Given the description of an element on the screen output the (x, y) to click on. 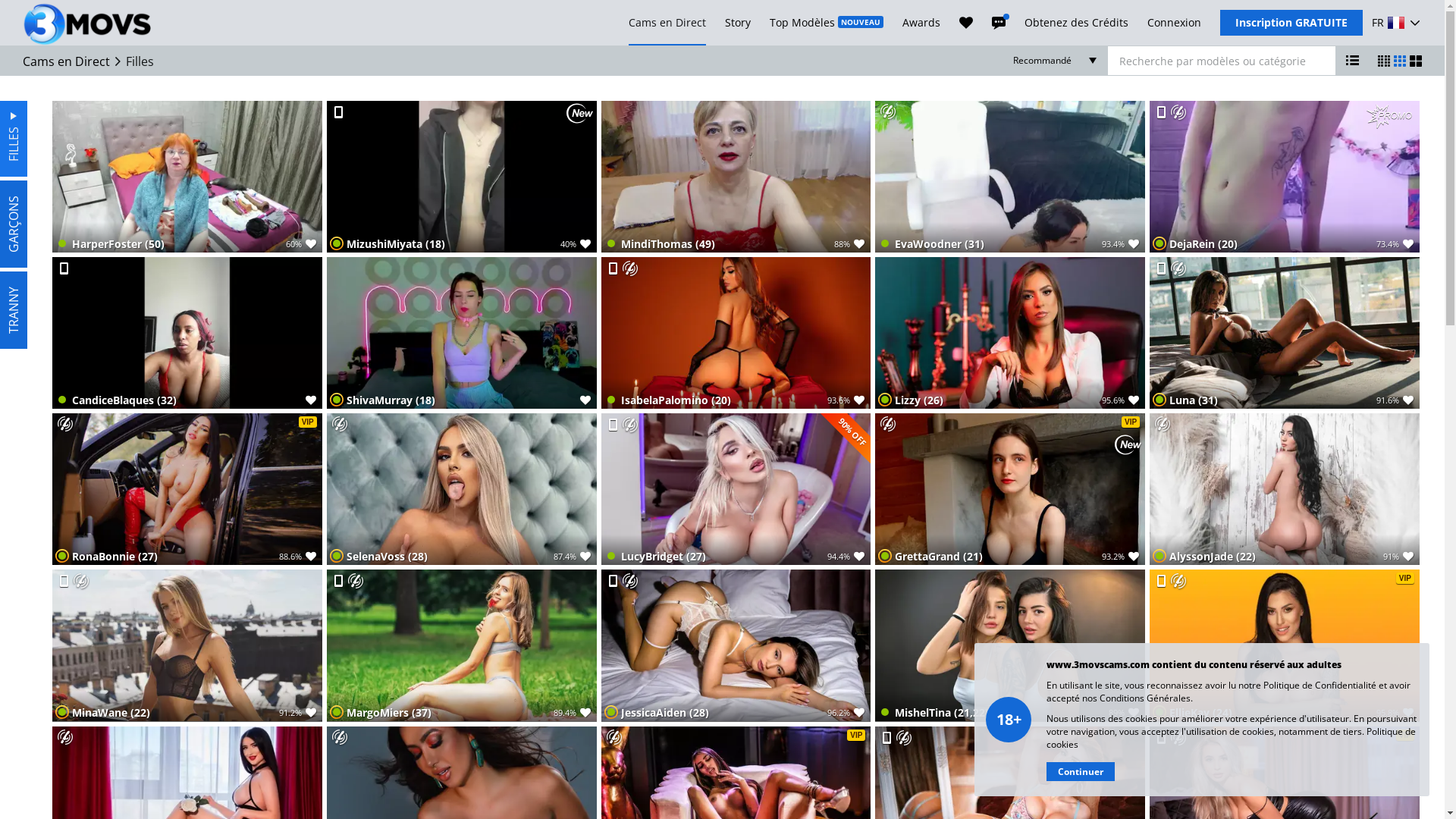
Mobile En Direct Element type: hover (338, 111)
JessicaAiden (28)
96.2% Element type: text (736, 645)
Mobile En Direct Element type: hover (612, 580)
Lizzy (26)
95.6% Element type: text (1010, 332)
VIP
RonaBonnie (27)
88.6% Element type: text (187, 488)
MindiThomas (49)
88% Element type: text (736, 176)
IsabelaPalomino (20)
93.6% Element type: text (736, 332)
Mobile En Direct Element type: hover (63, 268)
Mobile En Direct Element type: hover (1160, 268)
MargoMiers (37)
89.4% Element type: text (461, 645)
Mobile En Direct Element type: hover (338, 580)
Mobile En Direct Element type: hover (1160, 737)
Connexion Element type: text (1174, 22)
Mobile En Direct Element type: hover (612, 268)
Politique de cookies Element type: text (1230, 737)
MishelTina (21,22)
89% Element type: text (1010, 645)
Cams en Direct Element type: text (667, 22)
DejaRein (20)
73.4% Element type: text (1284, 176)
VIP
EllieKay (24)
95.8% Element type: text (1284, 645)
LucyBridget (27)
94.4% Element type: text (736, 488)
Mobile En Direct Element type: hover (886, 737)
Mobile En Direct Element type: hover (1160, 111)
VIP
GrettaGrand (21)
93.2% Element type: text (1010, 488)
Inscription GRATUITE Element type: text (1291, 22)
ShivaMurray (18) Element type: text (461, 332)
Messages Element type: hover (998, 22)
Continuer Element type: text (1080, 771)
FILLES Element type: text (37, 114)
HarperFoster (50)
60% Element type: text (187, 176)
SelenaVoss (28)
87.4% Element type: text (461, 488)
Mobile En Direct Element type: hover (63, 580)
EvaWoodner (31)
93.4% Element type: text (1010, 176)
Mobile En Direct Element type: hover (612, 424)
Awards Element type: text (921, 22)
Cams en Direct Element type: text (65, 61)
MizushiMiyata (18)
40% Element type: text (461, 176)
CandiceBlaques (32) Element type: text (187, 332)
TRANNY Element type: text (38, 284)
Mobile En Direct Element type: hover (1160, 580)
MinaWane (22)
91.2% Element type: text (187, 645)
AlyssonJade (22)
91% Element type: text (1284, 488)
Luna (31)
91.6% Element type: text (1284, 332)
Story Element type: text (737, 22)
